Given the description of an element on the screen output the (x, y) to click on. 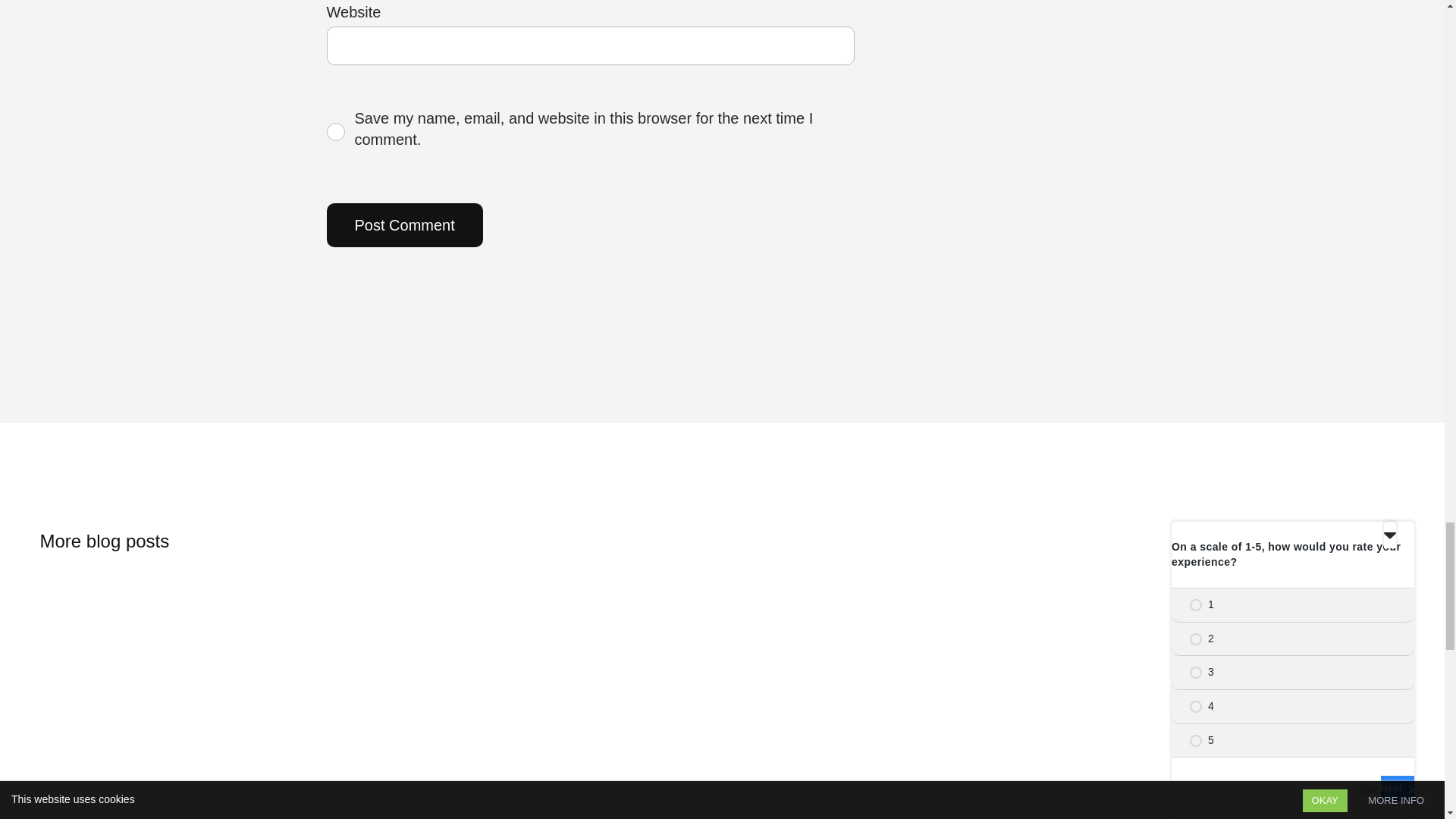
yes (334, 131)
Post Comment (403, 225)
Post Comment (403, 225)
